Given the description of an element on the screen output the (x, y) to click on. 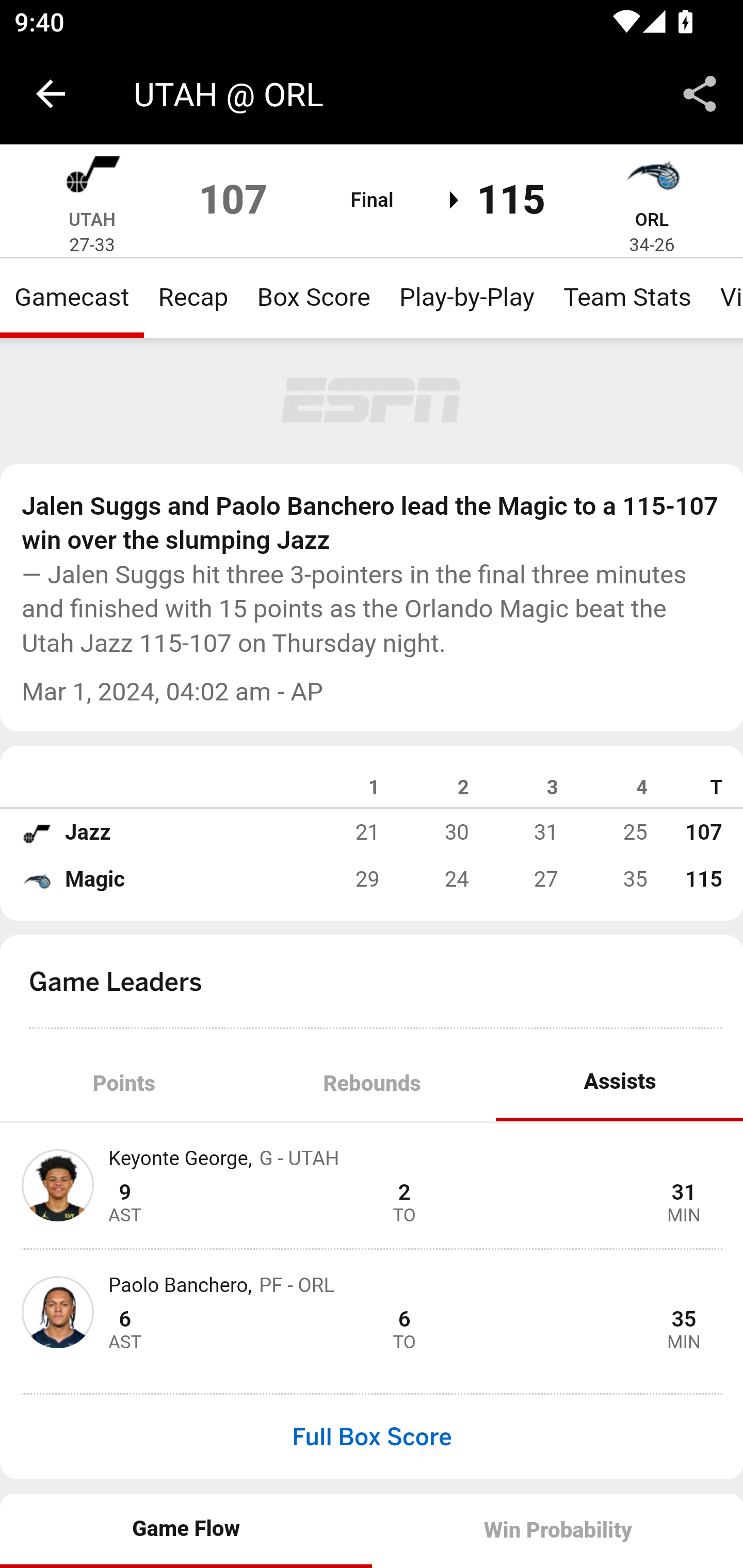
Navigate up (50, 93)
Share (699, 93)
Utah Jazz (91, 177)
Orlando Magic (651, 177)
UTAH (91, 219)
ORL (651, 219)
Gamecast (72, 296)
Recap (192, 296)
Box Score (314, 296)
Play-by-Play (466, 296)
Team Stats (627, 296)
Advertisement (372, 401)
Utah Jazz (36, 832)
Orlando Magic (36, 879)
Points (124, 1084)
Rebounds (371, 1084)
Assists (618, 1084)
Full Box Score (371, 1436)
Game Flow (186, 1530)
Win Probability (557, 1530)
